Given the description of an element on the screen output the (x, y) to click on. 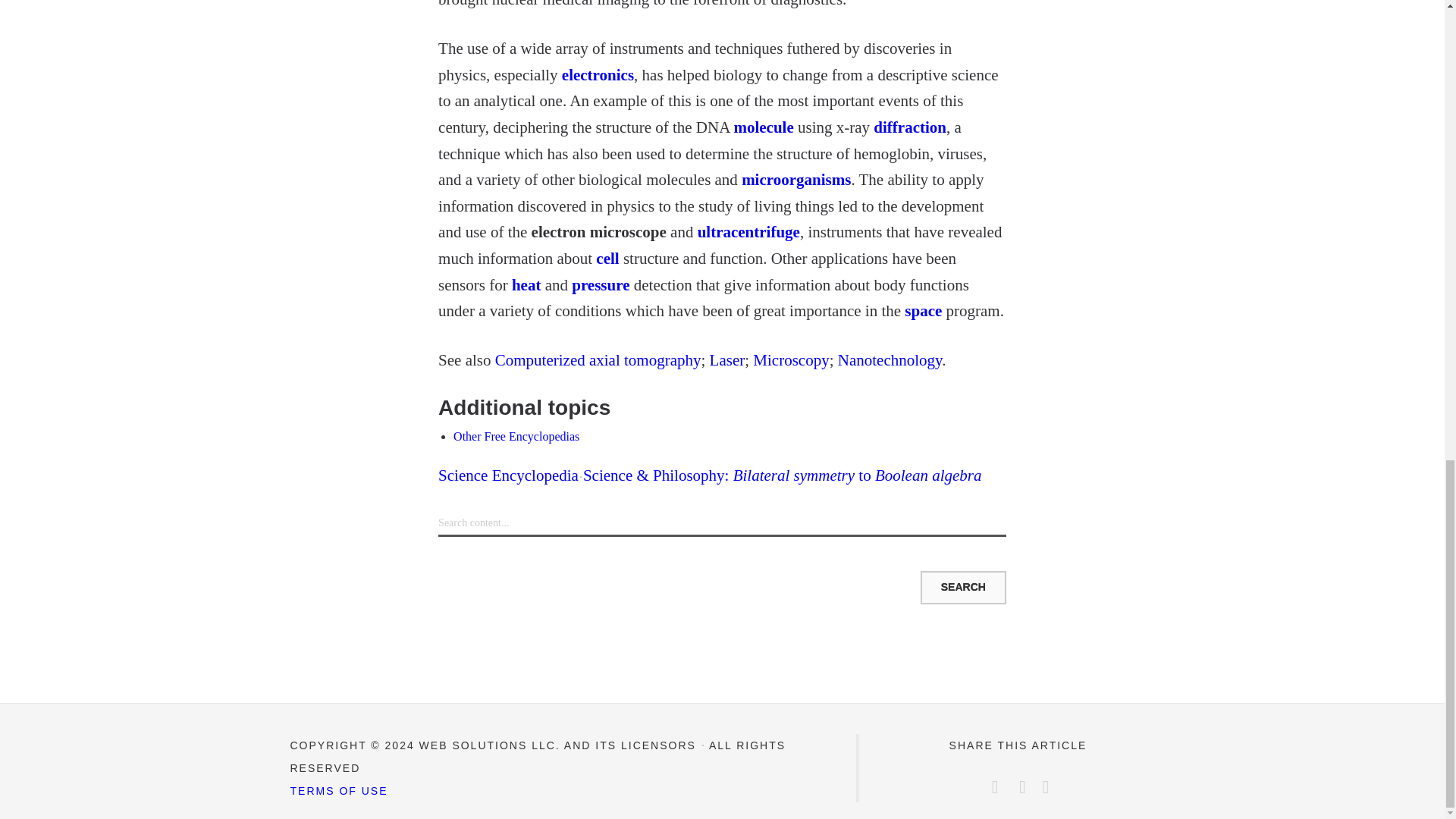
Microscopy (790, 360)
ultracentrifuge (748, 231)
heat (526, 285)
microorganisms (795, 179)
Search (963, 587)
Other Free Encyclopedias (515, 436)
Search (963, 587)
diffraction (909, 126)
cell (606, 258)
Nanotechnology (890, 360)
molecule (763, 126)
Science Encyclopedia (508, 475)
space (923, 311)
Laser (727, 360)
Computerized axial tomography (598, 360)
